Given the description of an element on the screen output the (x, y) to click on. 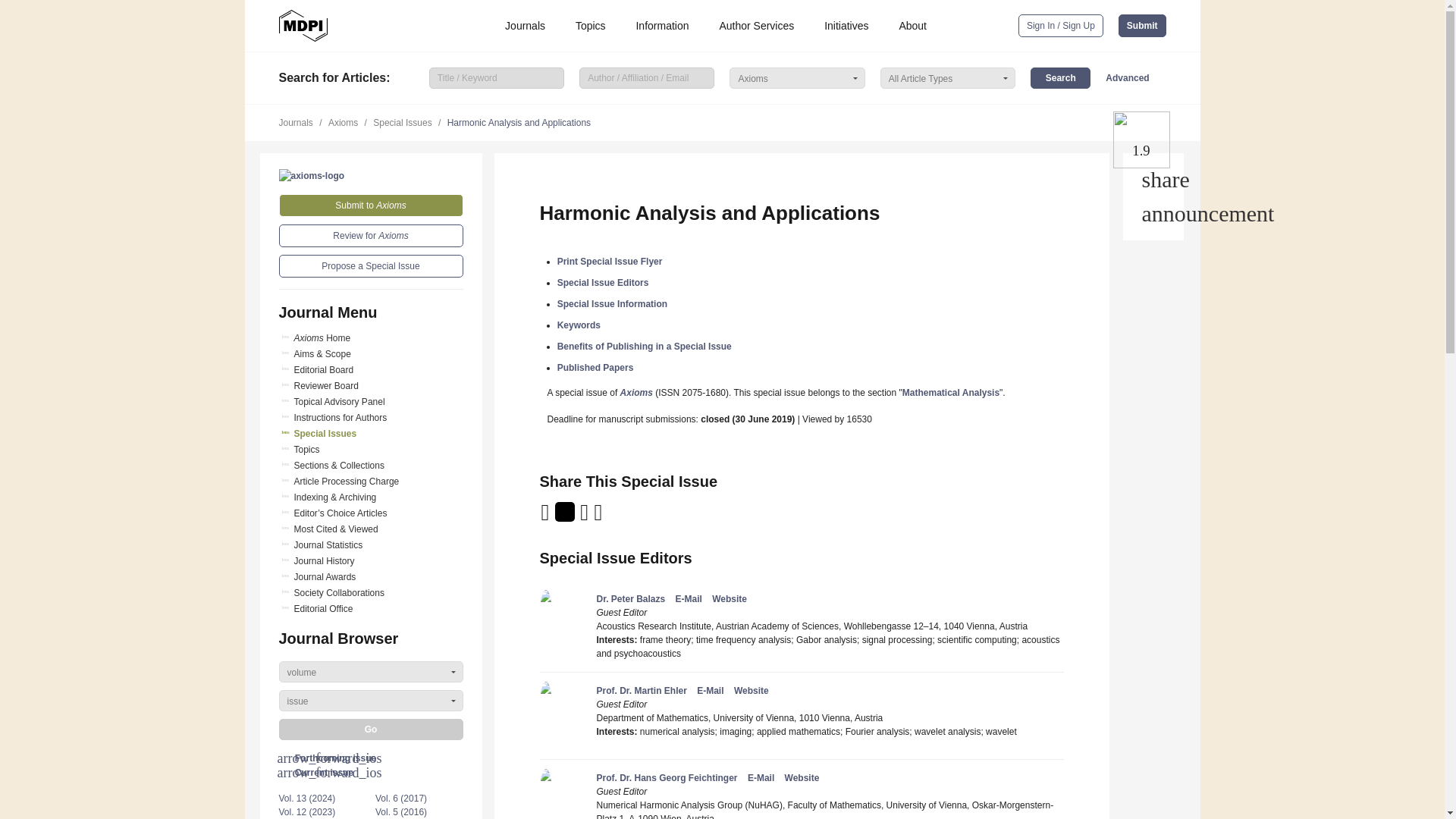
facebook (599, 516)
Share (1152, 179)
LinkedIn (585, 516)
Search (1060, 77)
Email (546, 516)
Axioms (312, 175)
Twitter (565, 516)
Go (371, 729)
Help (1152, 213)
MDPI Open Access Journals (303, 25)
